Given the description of an element on the screen output the (x, y) to click on. 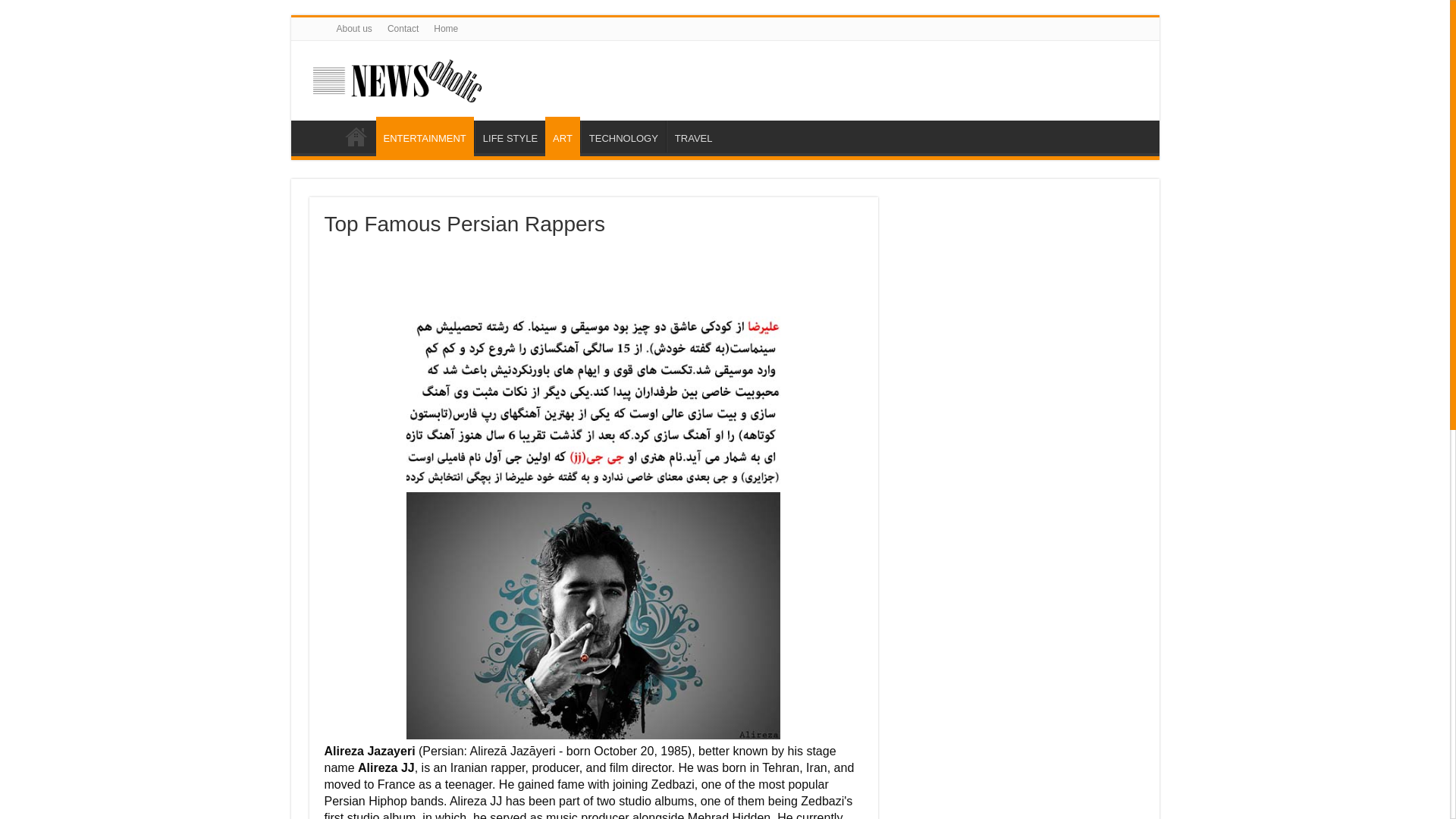
newsoholic (396, 77)
HOME (355, 136)
ENTERTAINMENT (424, 136)
TECHNOLOGY (622, 136)
Advertisement (600, 278)
Contact (403, 28)
Advertisement (1022, 291)
LIFE STYLE (509, 136)
Home (445, 28)
About us (354, 28)
TRAVEL (693, 136)
